Given the description of an element on the screen output the (x, y) to click on. 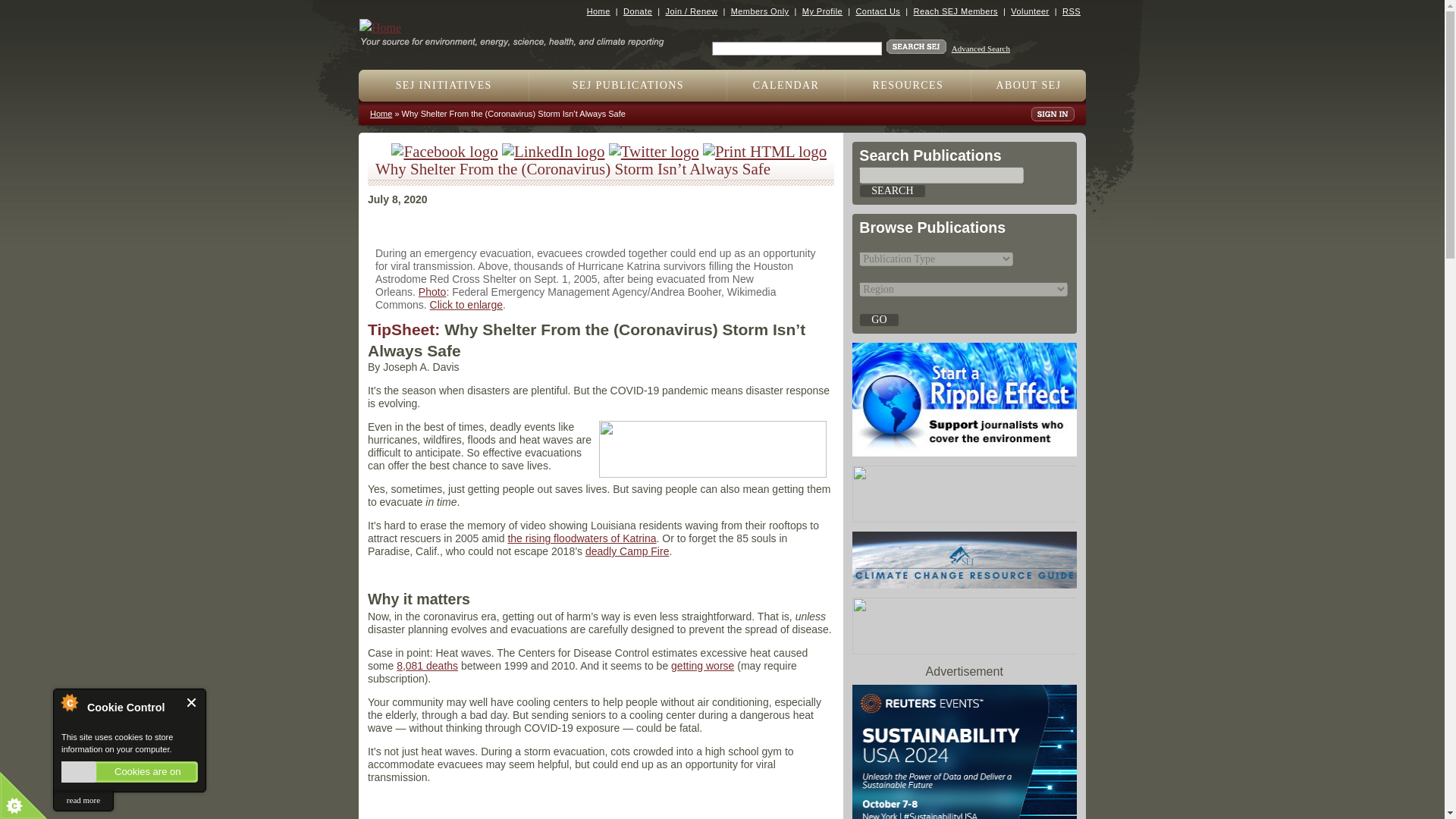
SEJ INITIATIVES (443, 85)
My Profile (822, 10)
Donate (637, 10)
Home (598, 10)
Home (518, 36)
Reach SEJ Members (955, 10)
Enter the terms you wish to search for. (796, 48)
Members Only (759, 10)
Go (878, 318)
SEJ PUBLICATIONS (627, 85)
